Given the description of an element on the screen output the (x, y) to click on. 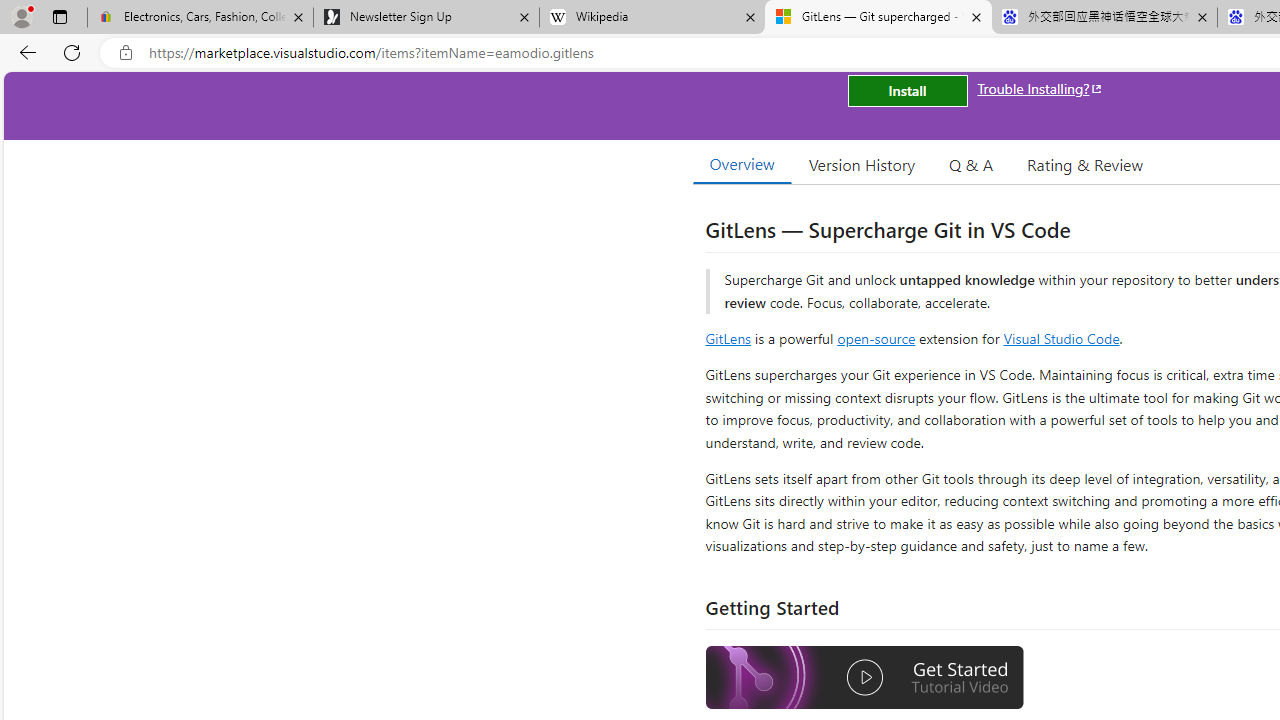
Watch the GitLens Getting Started video (865, 678)
GitLens (728, 337)
Watch the GitLens Getting Started video (865, 679)
Overview (742, 164)
Install (907, 90)
Q & A (971, 164)
Newsletter Sign Up (425, 17)
Rating & Review (1084, 164)
